Given the description of an element on the screen output the (x, y) to click on. 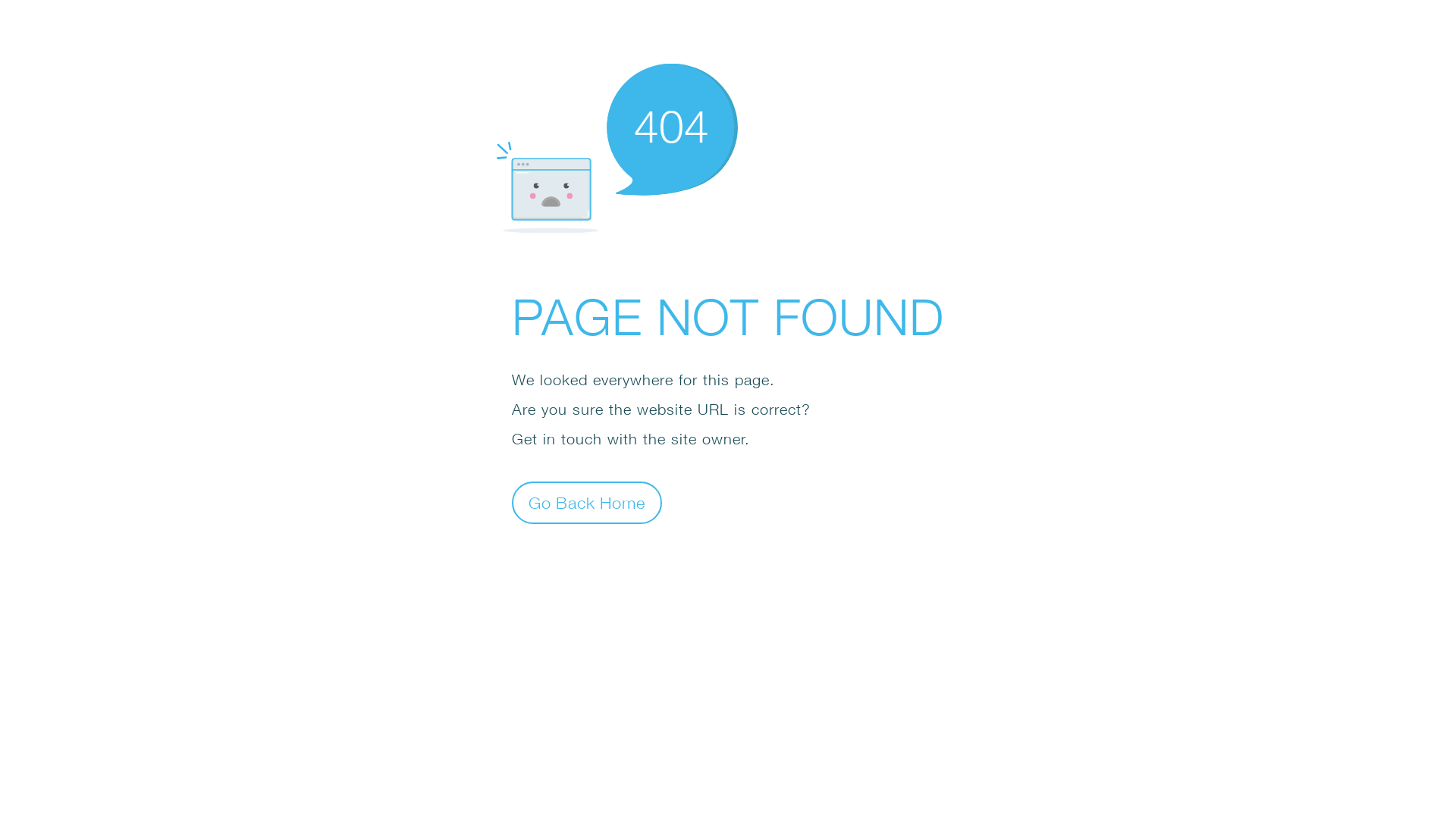
Go Back Home Element type: text (586, 502)
